Given the description of an element on the screen output the (x, y) to click on. 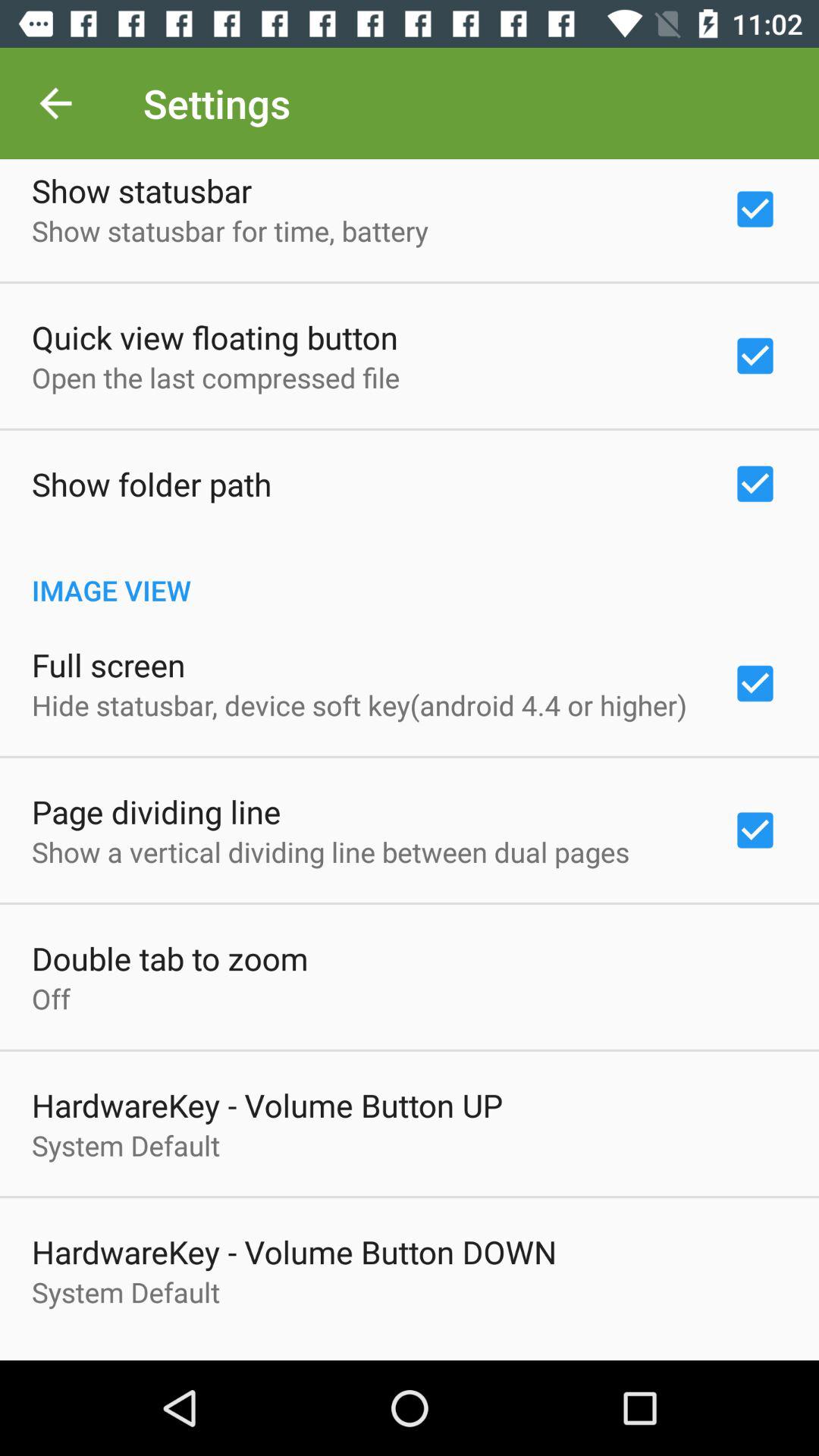
turn on the icon above the show statusbar item (55, 103)
